Given the description of an element on the screen output the (x, y) to click on. 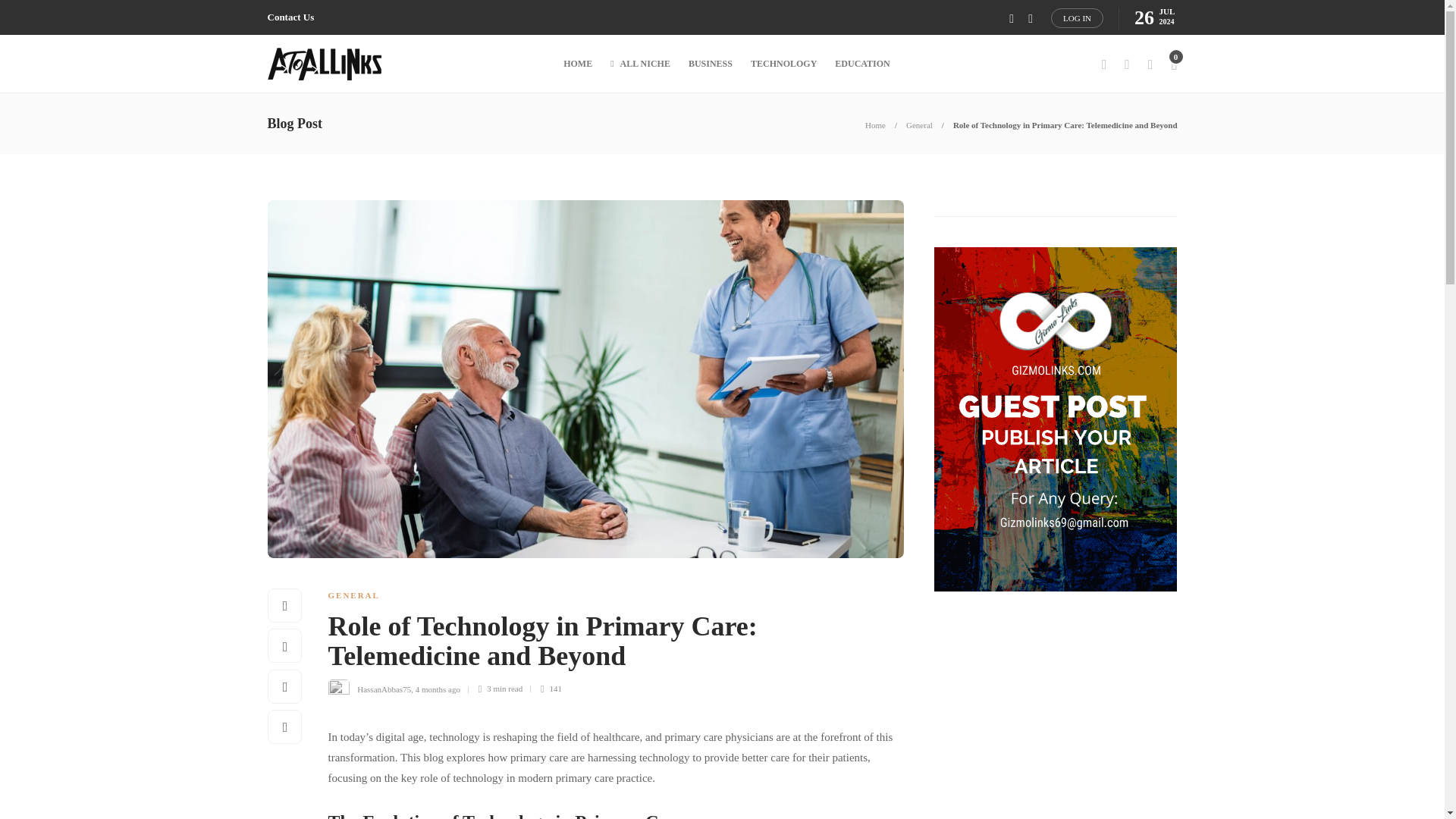
BUSINESS (710, 63)
LOG IN (1077, 17)
TECHNOLOGY (783, 63)
Contact Us (290, 17)
EDUCATION (861, 63)
Home (874, 124)
HassanAbbas75 (383, 687)
Home (874, 124)
GENERAL (352, 594)
General (919, 124)
ALL NICHE (639, 63)
0 (1173, 63)
HOME (577, 63)
Role of Technology in Primary Care: Telemedicine and Beyond (1065, 124)
Role of Technology in Primary Care: Telemedicine and Beyond  (603, 645)
